Given the description of an element on the screen output the (x, y) to click on. 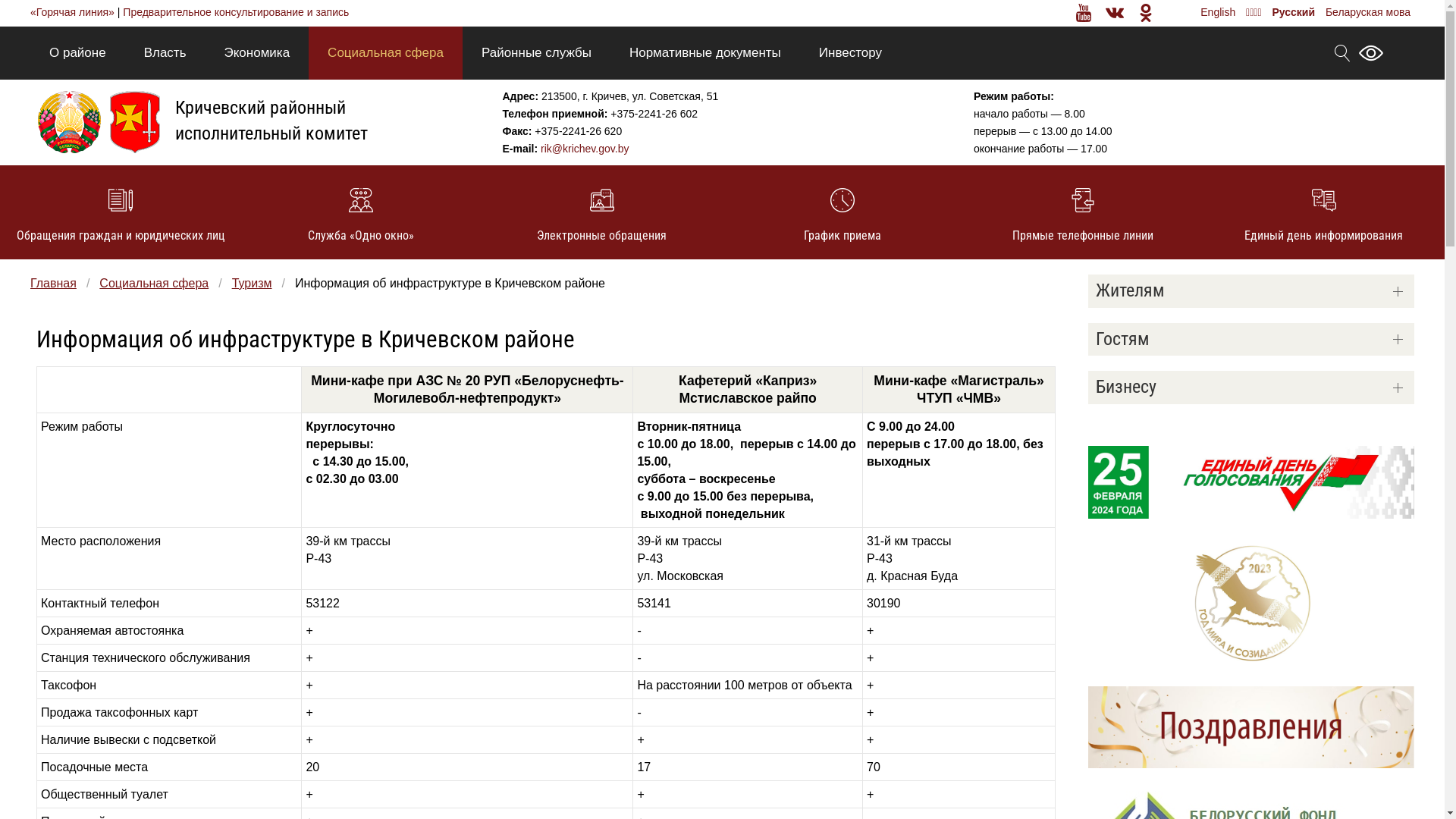
rik@krichev.gov.by Element type: text (584, 148)
English Element type: text (1217, 12)
